Given the description of an element on the screen output the (x, y) to click on. 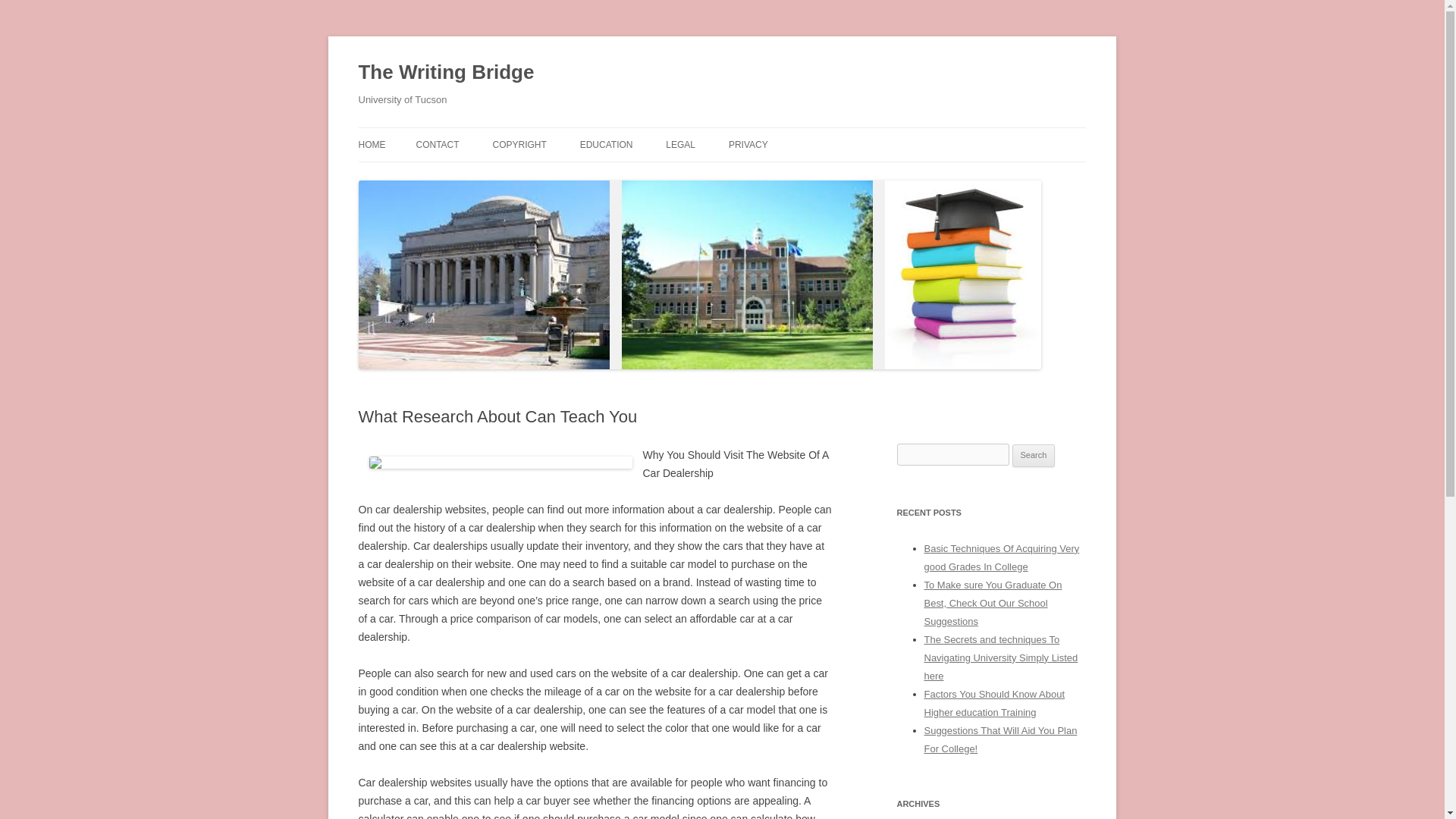
Search (1033, 455)
CONTACT (436, 144)
COPYRIGHT (519, 144)
EDUCATION (606, 144)
Suggestions That Will Aid You Plan For College! (1000, 739)
Factors You Should Know About Higher education Training (993, 703)
PRIVACY (748, 144)
The Writing Bridge (446, 72)
Search (1033, 455)
The Writing Bridge (446, 72)
Basic Techniques Of Acquiring Very good Grades In College (1000, 557)
